Given the description of an element on the screen output the (x, y) to click on. 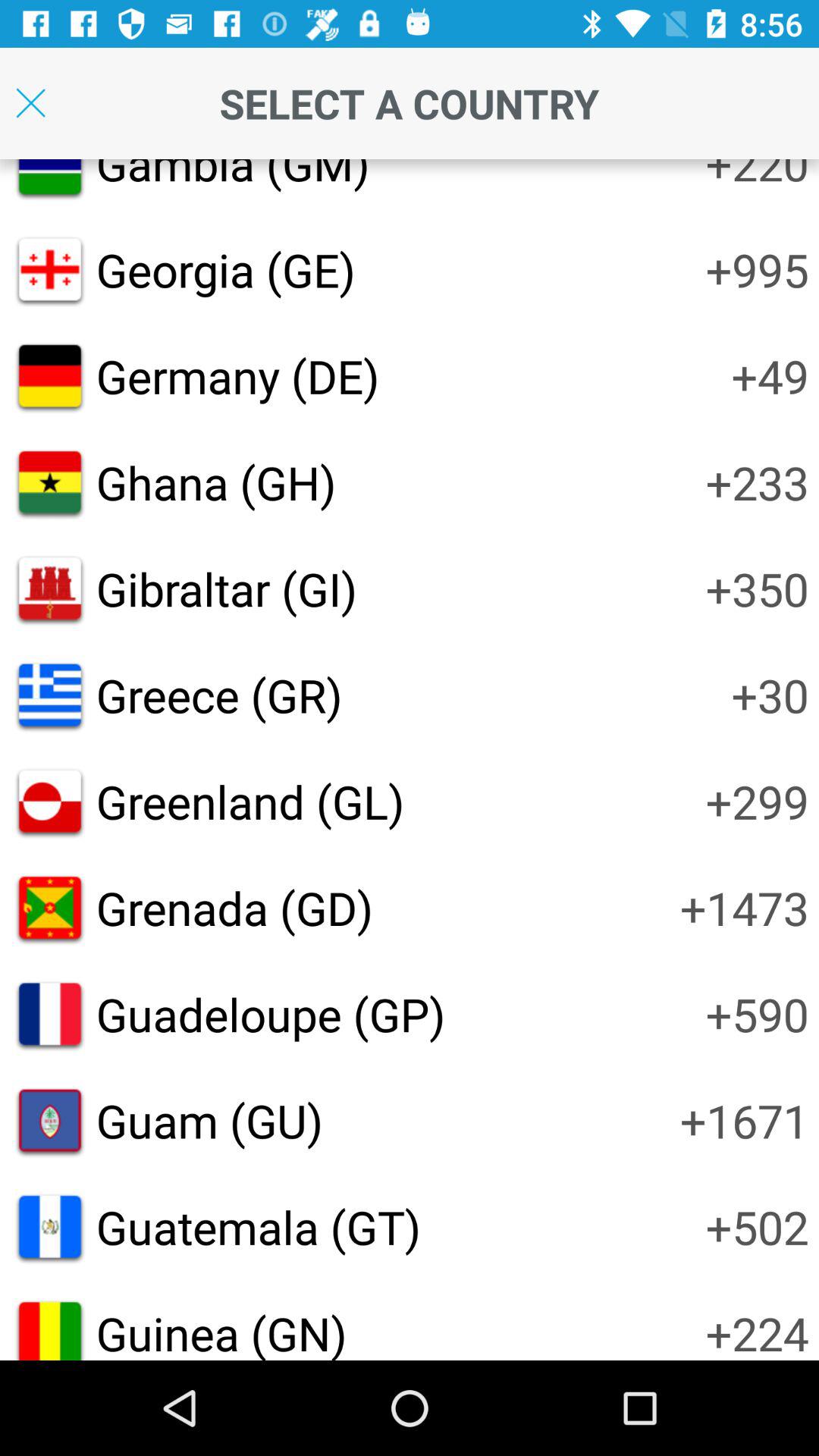
flip until the greenland (gl) icon (250, 801)
